Given the description of an element on the screen output the (x, y) to click on. 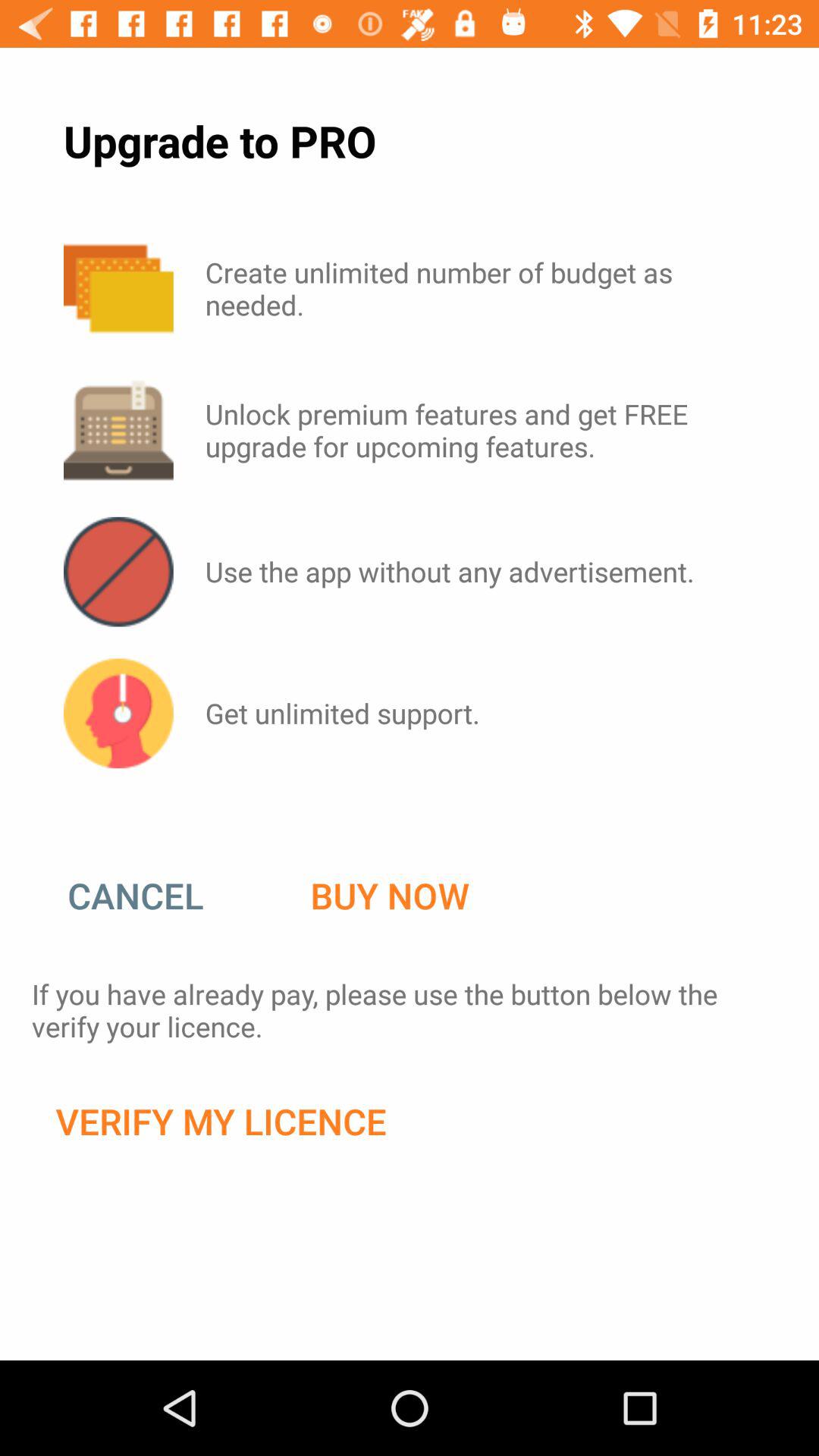
swipe to the cancel (150, 895)
